Given the description of an element on the screen output the (x, y) to click on. 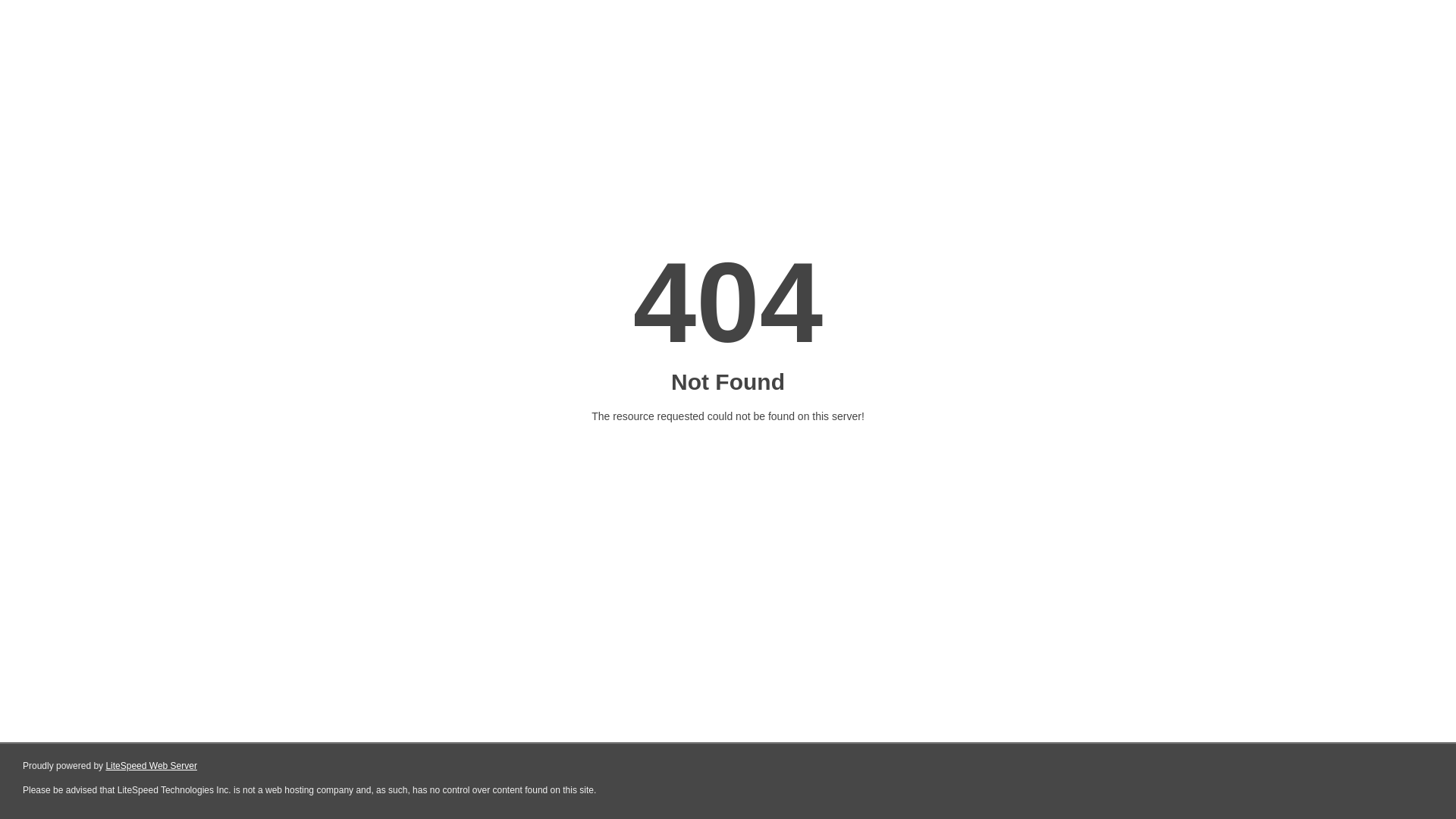
LiteSpeed Web Server Element type: text (151, 765)
